Given the description of an element on the screen output the (x, y) to click on. 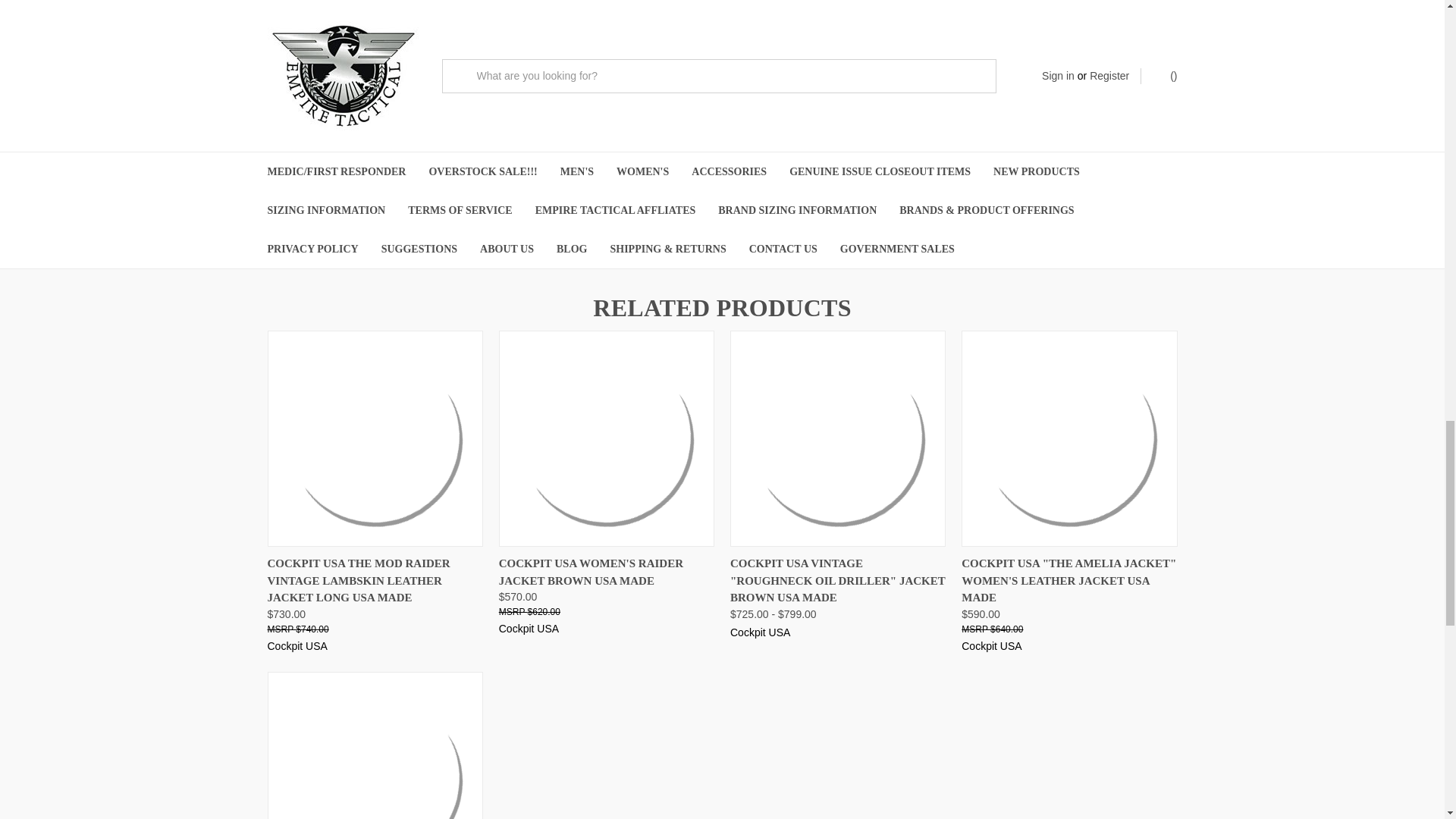
Cockpit USA Women's Raider Jacket Brown USA Made (606, 439)
